Given the description of an element on the screen output the (x, y) to click on. 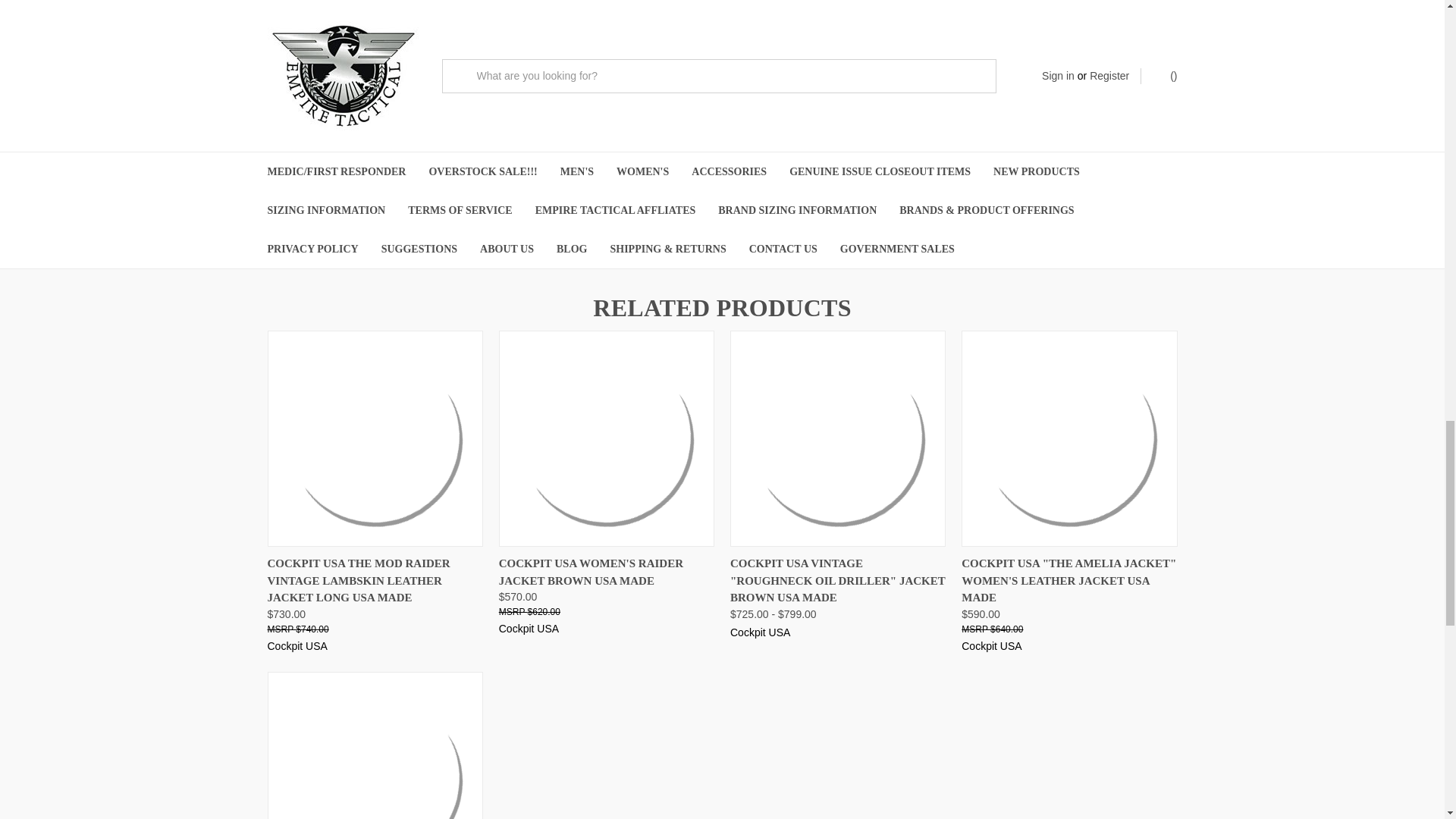
Cockpit USA Women's Raider Jacket Brown USA Made (606, 439)
